Given the description of an element on the screen output the (x, y) to click on. 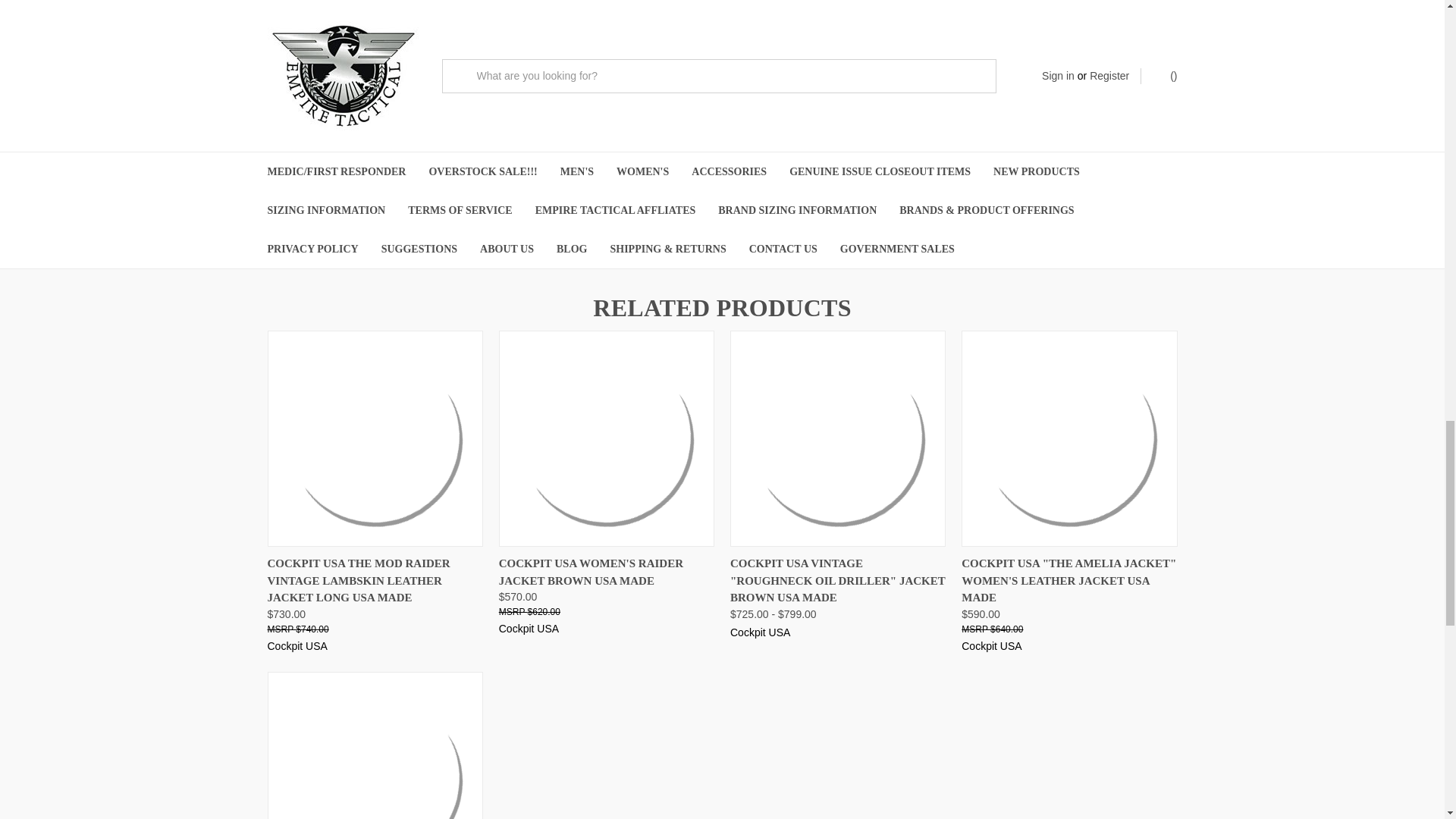
Cockpit USA Women's Raider Jacket Brown USA Made (606, 439)
